Given the description of an element on the screen output the (x, y) to click on. 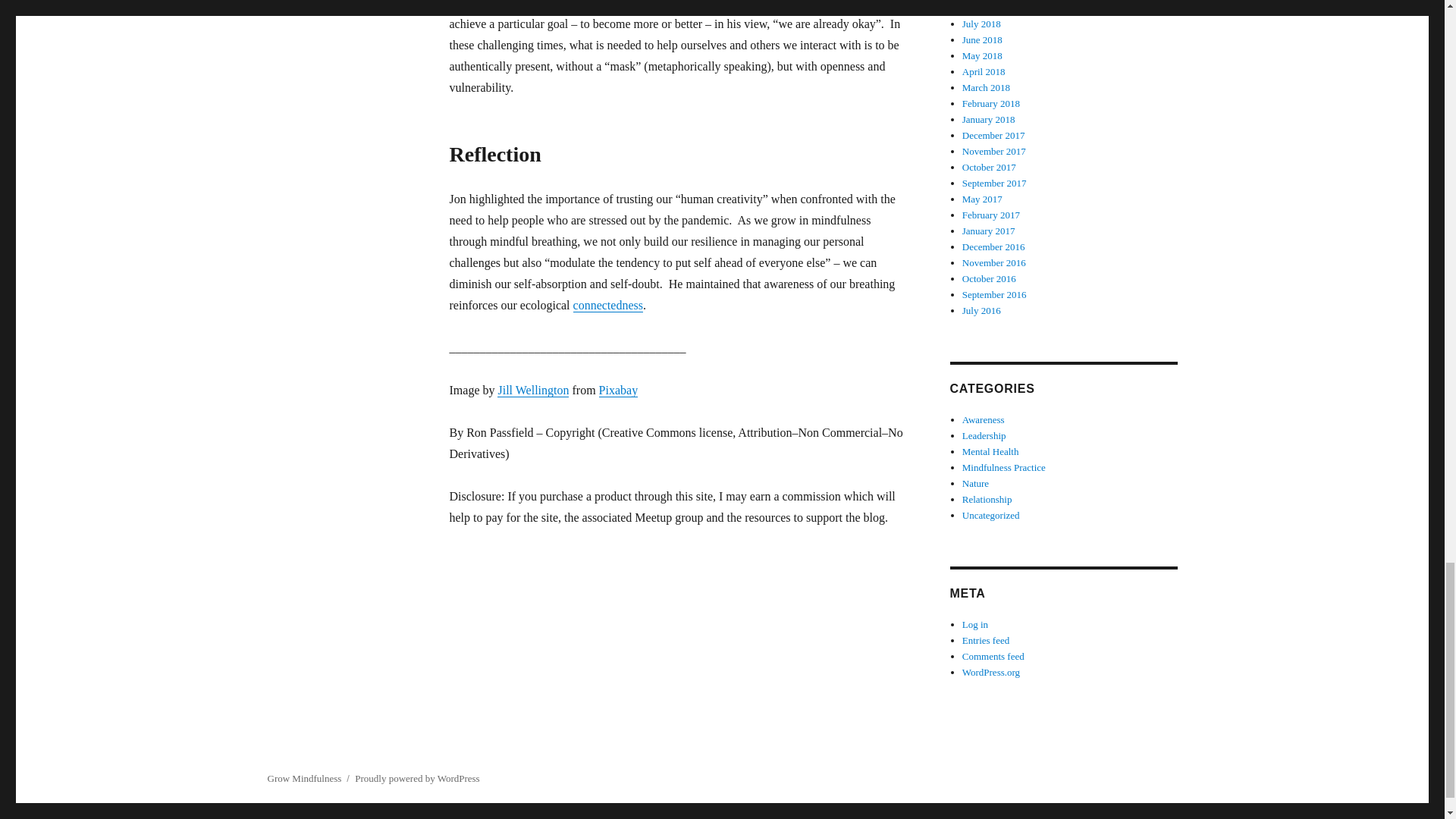
Pixabay (618, 390)
connectedness (608, 305)
Jill Wellington (533, 390)
